Given the description of an element on the screen output the (x, y) to click on. 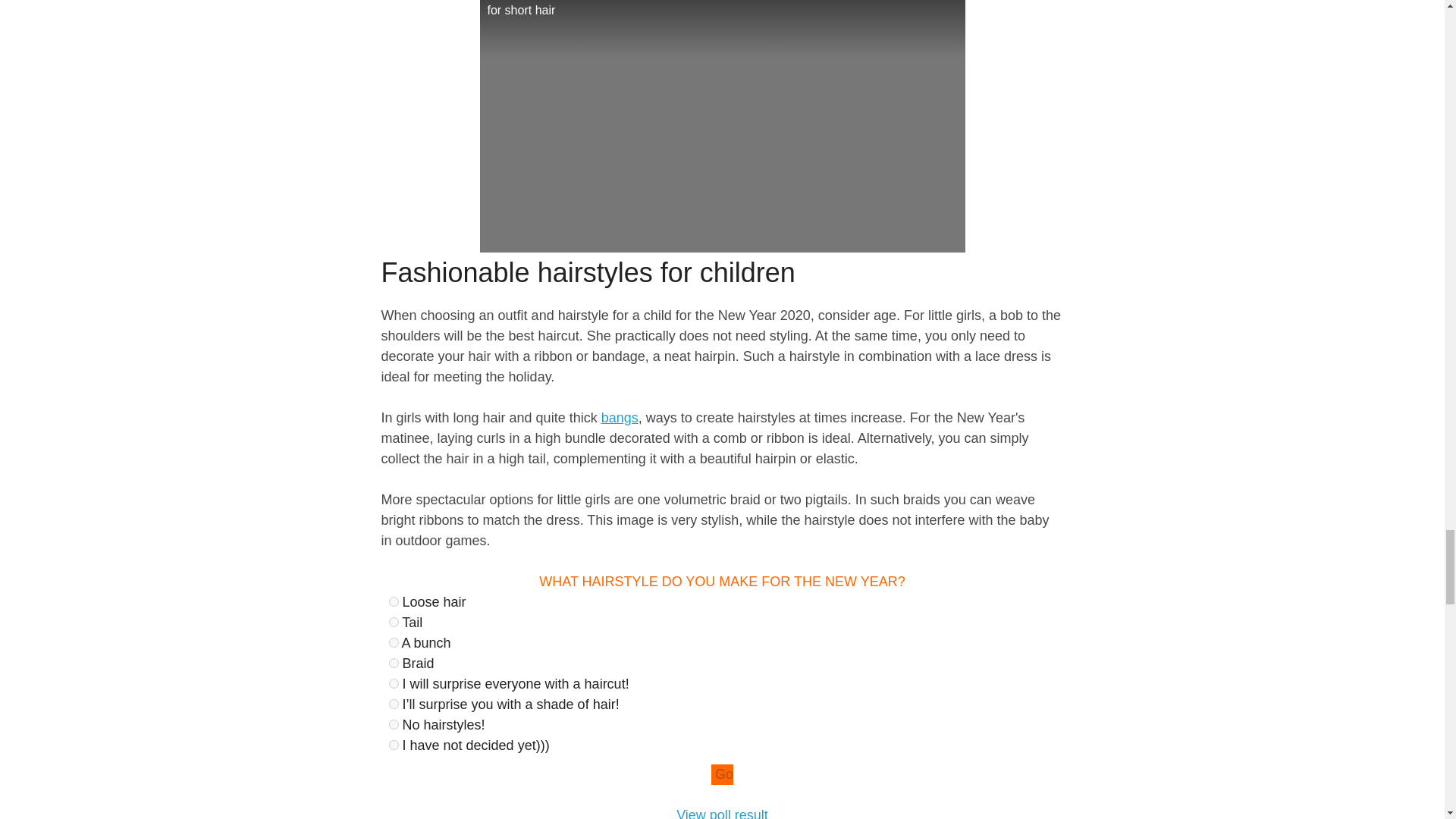
View Results Of This Poll (722, 813)
7345 (392, 601)
7351 (392, 724)
bangs (620, 417)
View poll result (722, 813)
7348 (392, 663)
7349 (392, 683)
7352 (392, 745)
7350 (392, 704)
7346 (392, 622)
